Given the description of an element on the screen output the (x, y) to click on. 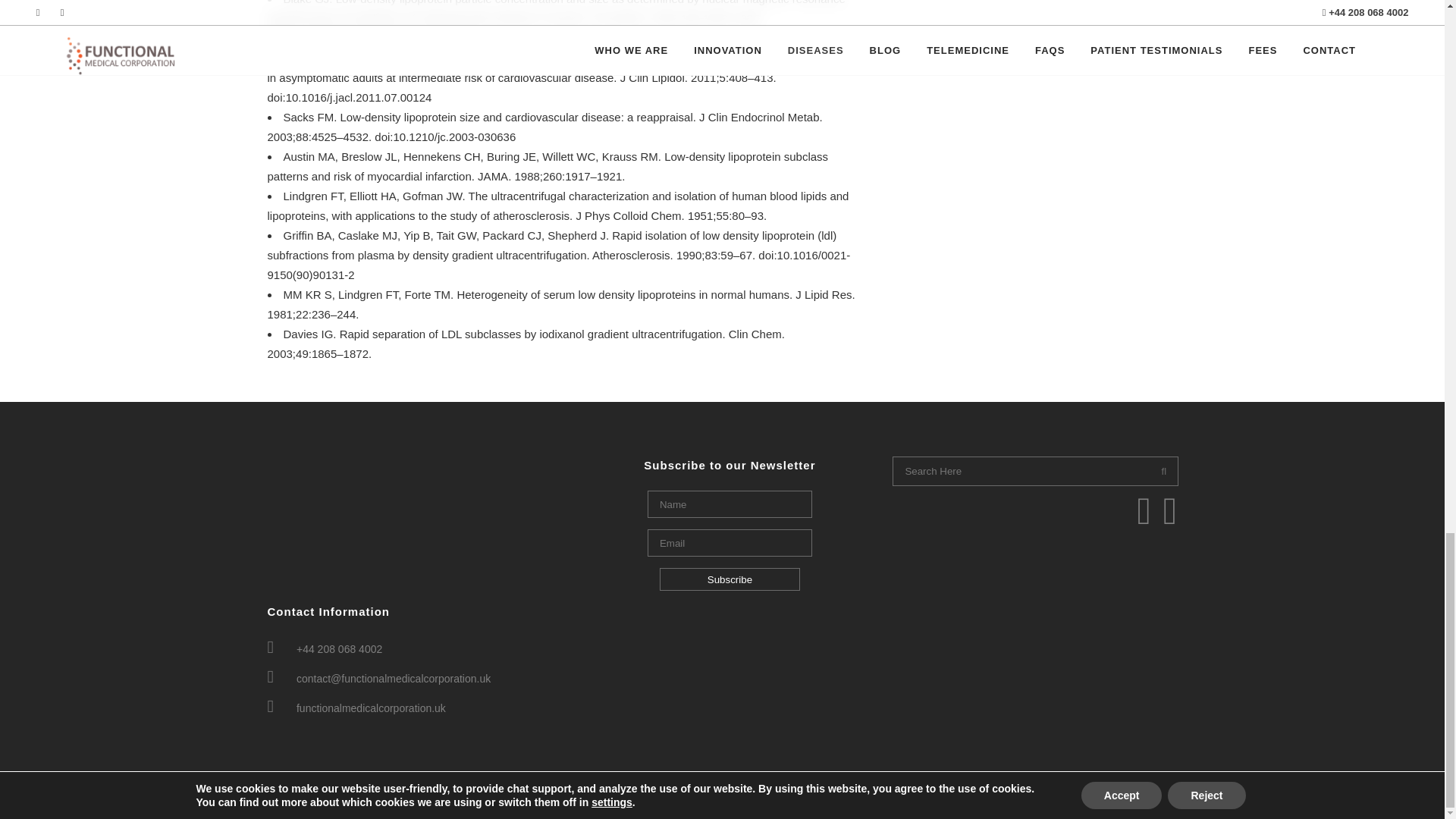
Subscribe (729, 579)
